Given the description of an element on the screen output the (x, y) to click on. 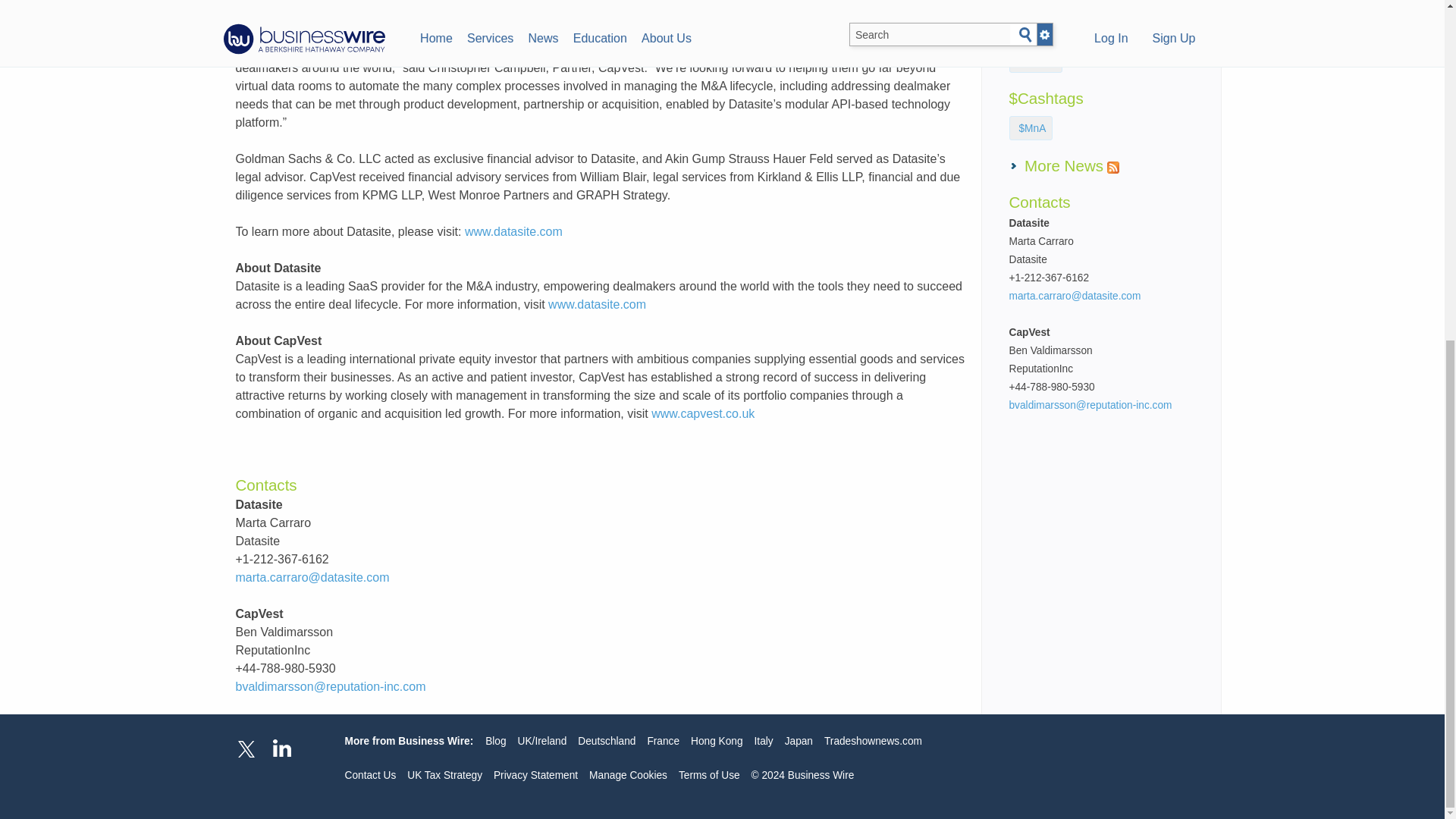
www.capvest.co.uk (702, 413)
www.datasite.com (513, 231)
RSS feed for null (1112, 167)
www.datasite.com (597, 304)
